Given the description of an element on the screen output the (x, y) to click on. 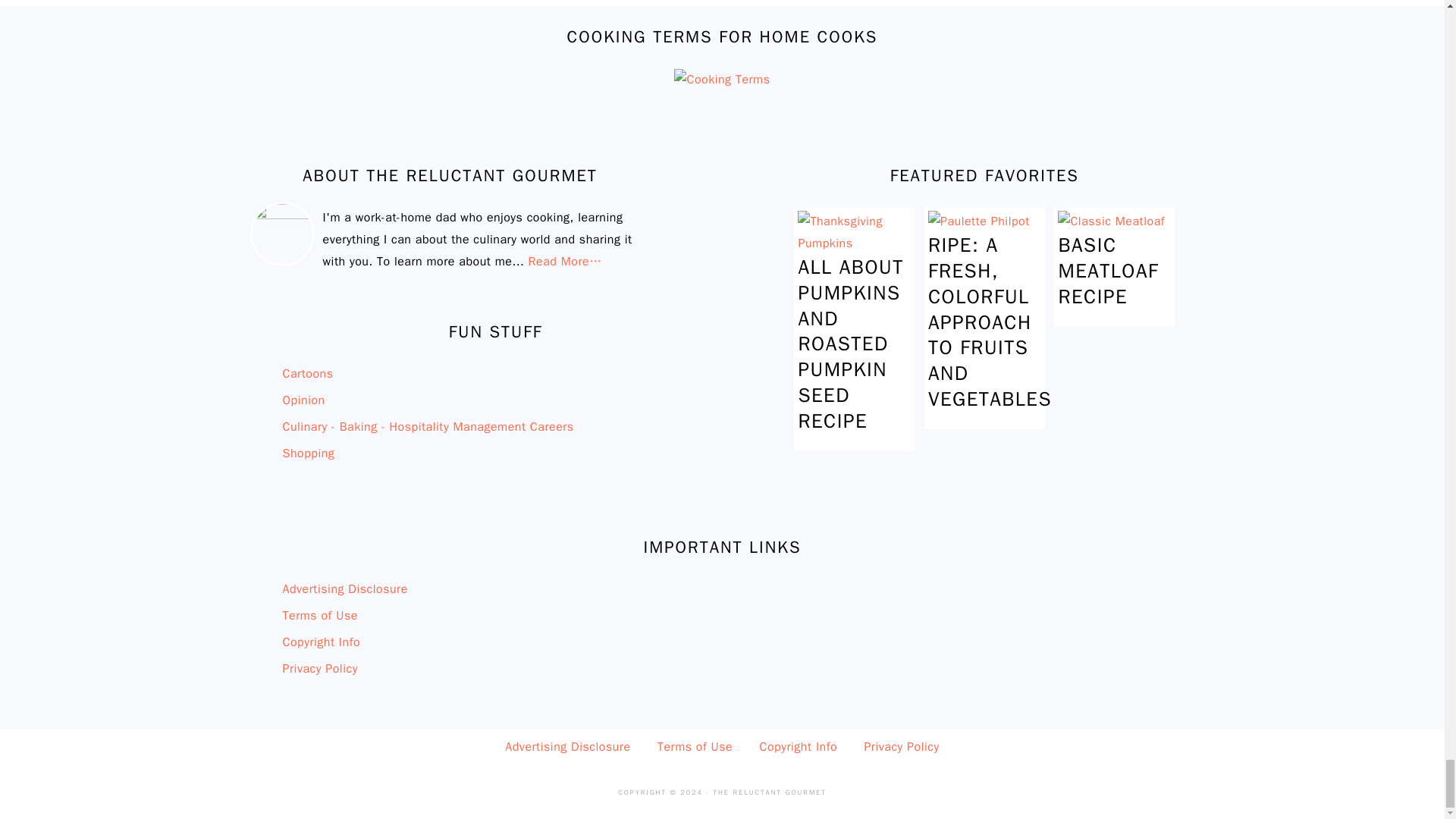
Basic Meatloaf Recipe (1111, 221)
All About Pumpkins and Roasted Pumpkin Seed Recipe (854, 242)
Ripe: A Fresh, Colorful Approach to Fruits and Vegetables (978, 221)
